Given the description of an element on the screen output the (x, y) to click on. 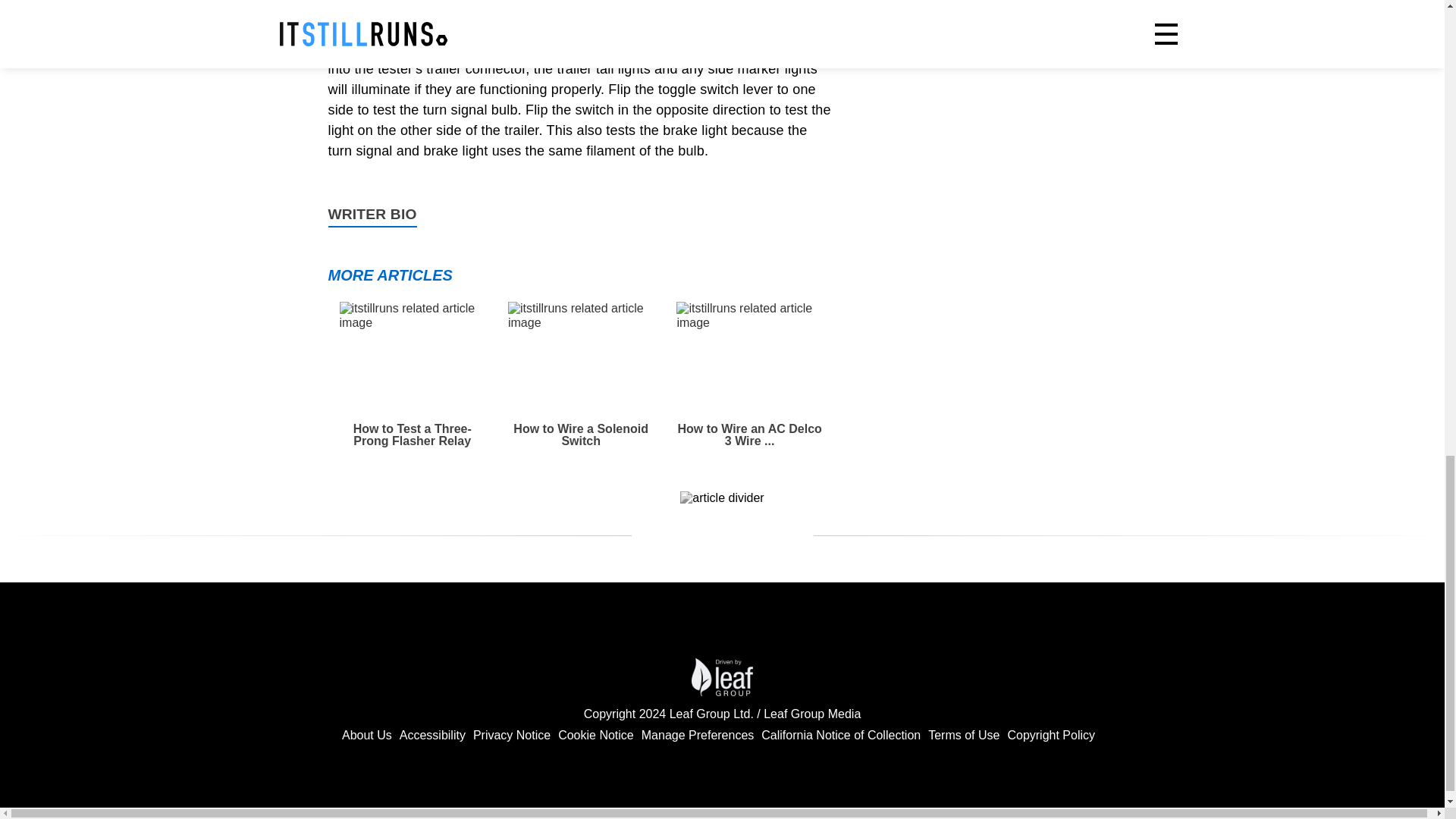
copyright-policy (1050, 735)
Terms of Use (963, 735)
How to Test a Three-Prong Flasher Relay (411, 374)
Cookie Notice (595, 735)
Privacy Notice (511, 735)
Accessibility (431, 735)
privacy-policy (595, 735)
accessibility (431, 735)
How to Wire a Solenoid Switch (580, 374)
about-us (366, 735)
California Notice of Collection (840, 735)
Manage Preferences (698, 735)
Copyright Policy (1050, 735)
About Us (366, 735)
terms-of-use (963, 735)
